Given the description of an element on the screen output the (x, y) to click on. 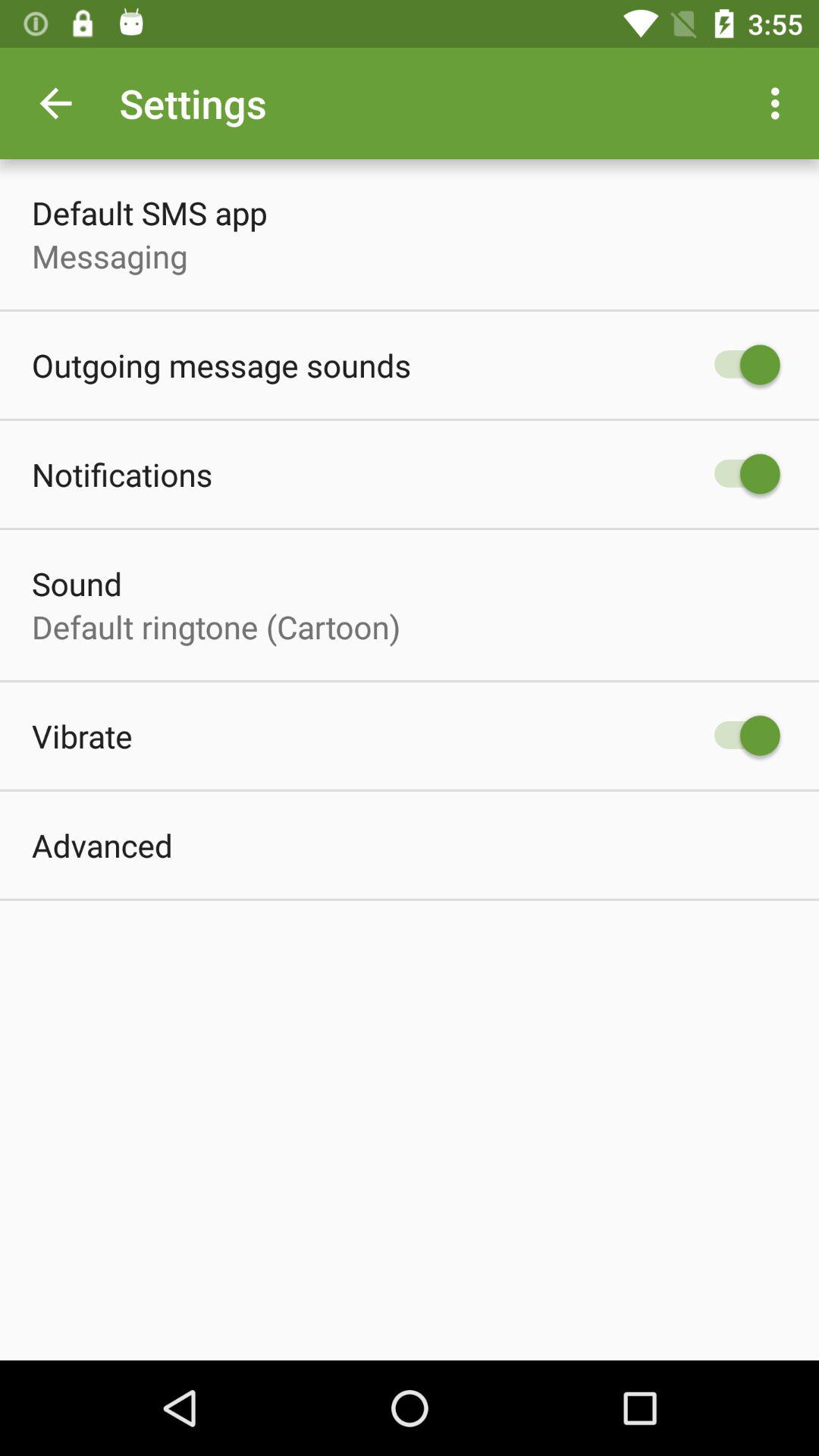
click item below the notifications icon (76, 583)
